Given the description of an element on the screen output the (x, y) to click on. 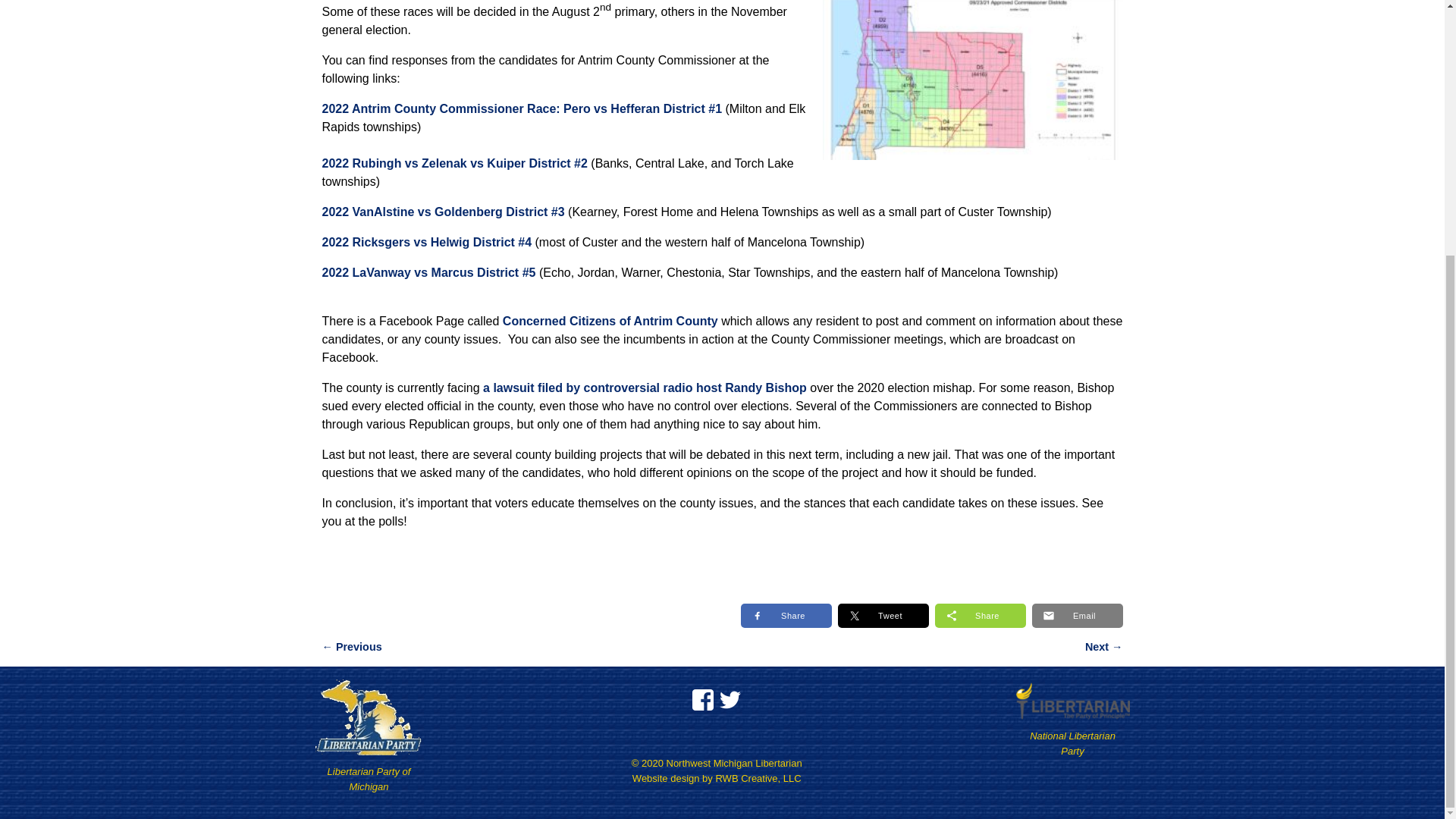
a lawsuit filed by controversial radio host Randy Bishop (644, 387)
Twitter (729, 695)
RWB Creative, LLC (757, 778)
National Libertarian Party (1072, 743)
Concerned Citizens of Antrim County (609, 320)
NW Michigan Libertarians Facebook Page (702, 695)
Libertarian Party of Michigan (368, 778)
